Given the description of an element on the screen output the (x, y) to click on. 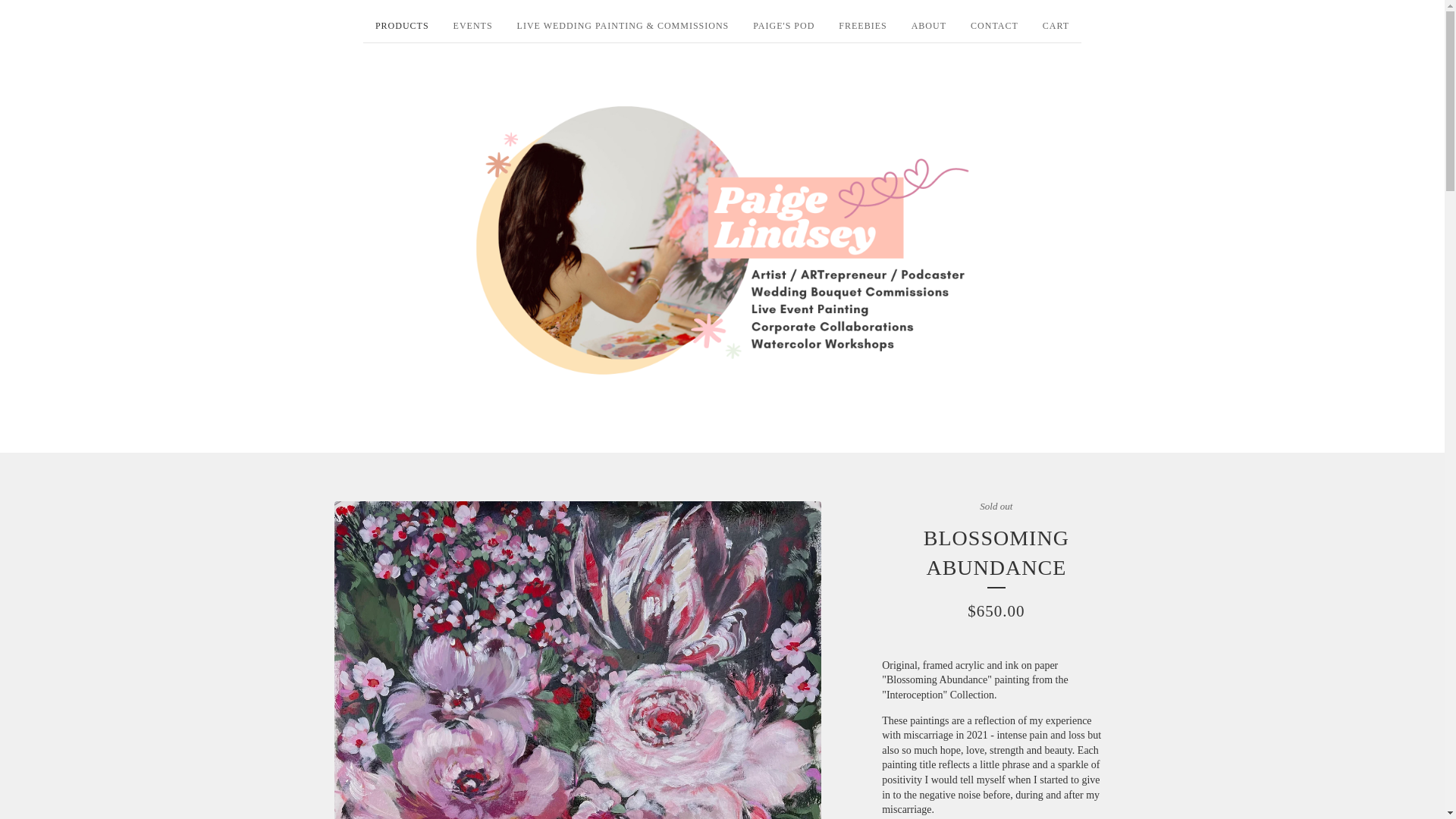
View Events (473, 29)
View Freebies (862, 29)
PRODUCTS (401, 29)
CART (1055, 29)
View About (928, 29)
View Paige's Pod (784, 29)
FREEBIES (862, 29)
EVENTS (473, 29)
PAIGE'S POD (784, 29)
